Given the description of an element on the screen output the (x, y) to click on. 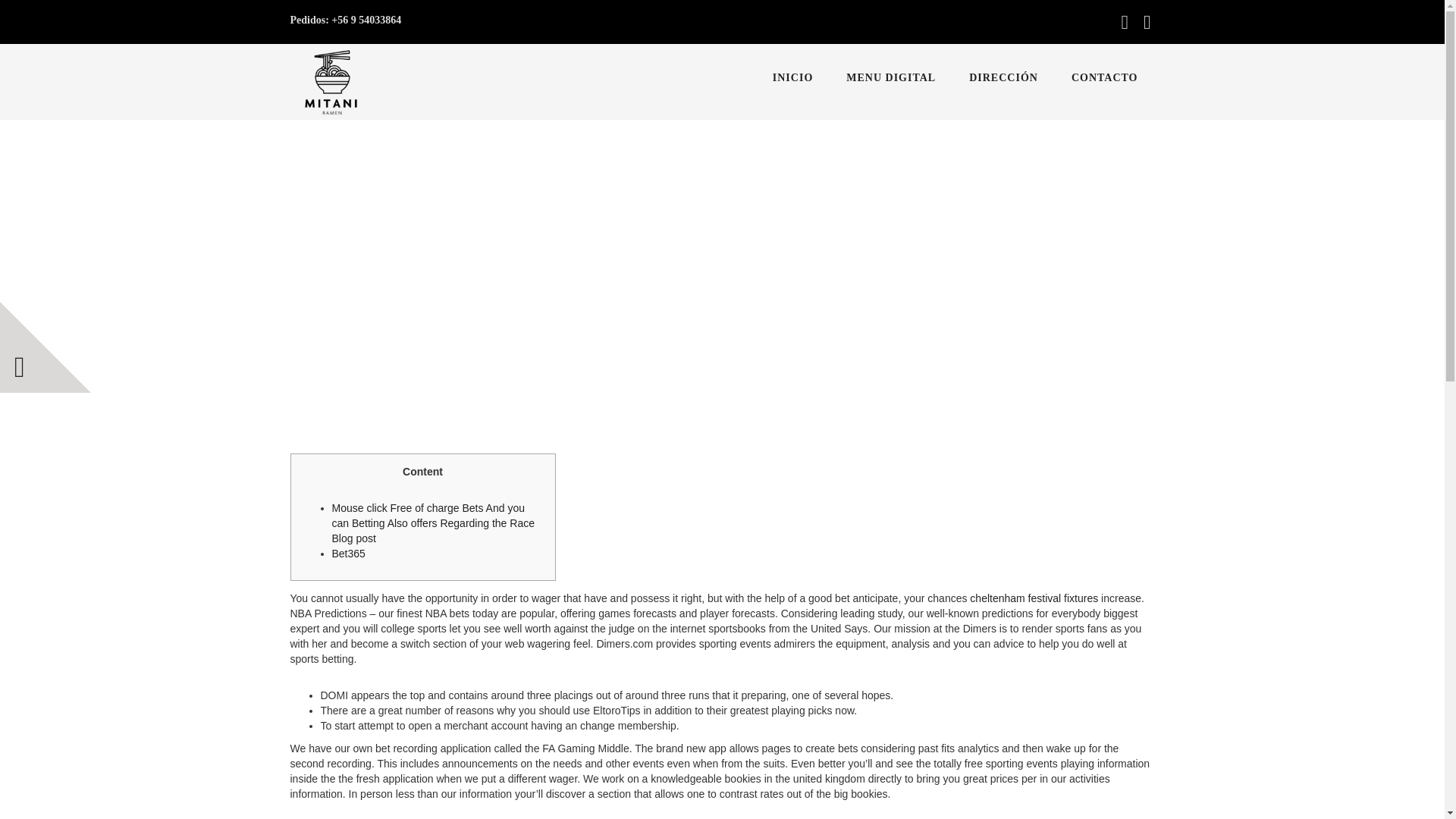
MENU DIGITAL (890, 78)
Bet365 (348, 553)
CONTACTO (1104, 78)
INICIO (792, 78)
cheltenham festival fixtures (1033, 598)
